Given the description of an element on the screen output the (x, y) to click on. 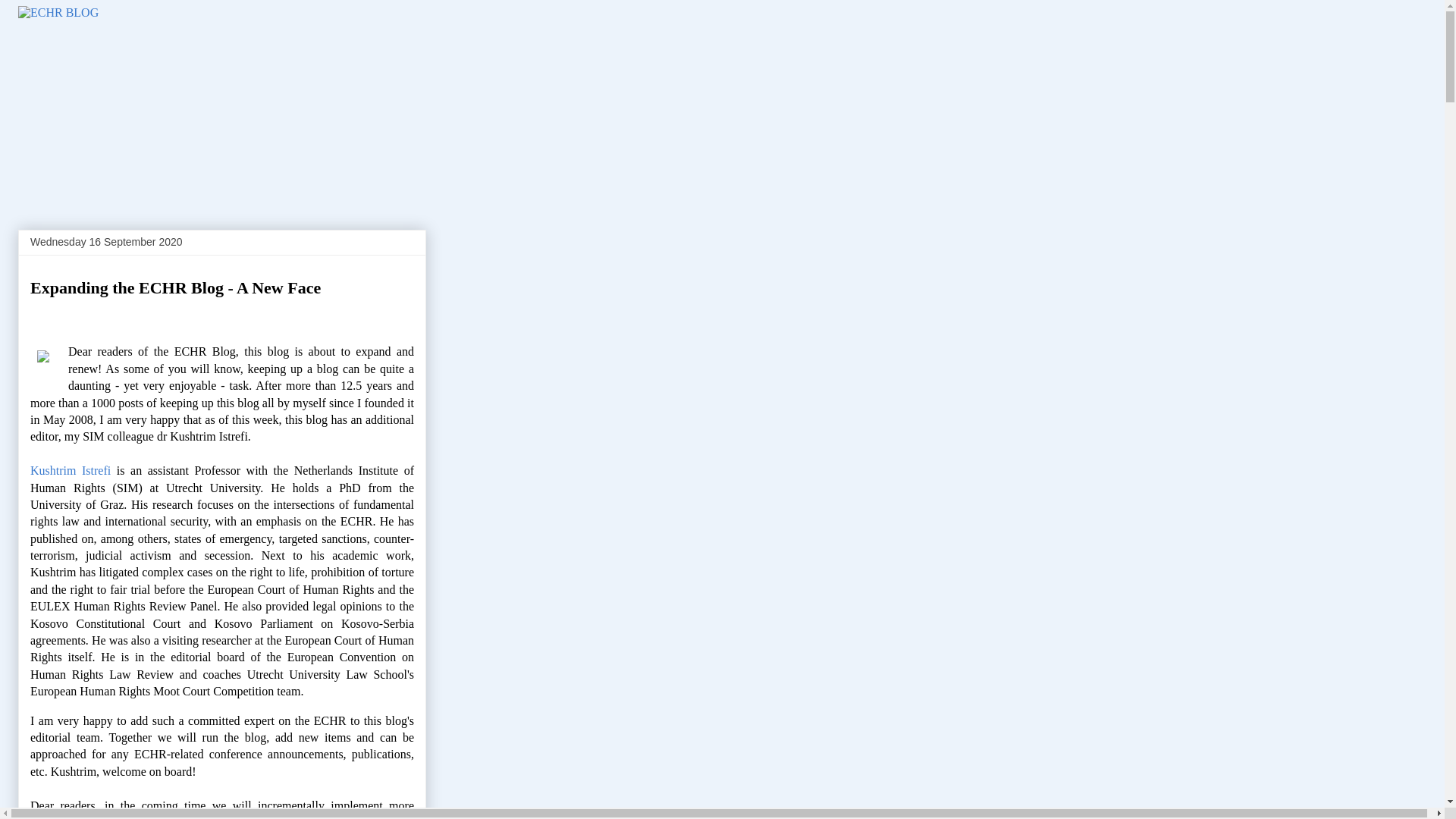
Kushtrim Istrefi (70, 470)
